Given the description of an element on the screen output the (x, y) to click on. 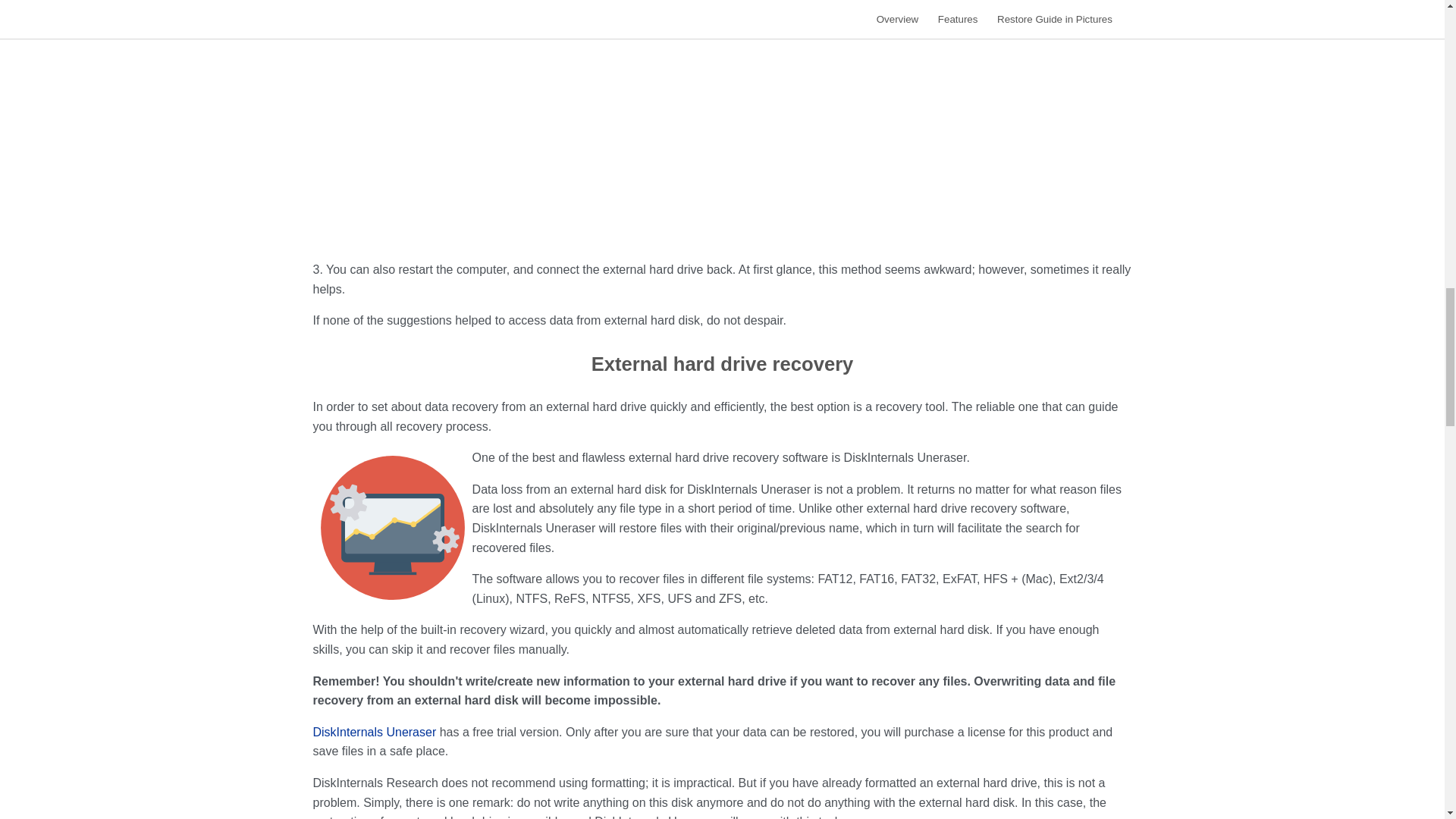
DiskInternals Uneraser (374, 731)
